Given the description of an element on the screen output the (x, y) to click on. 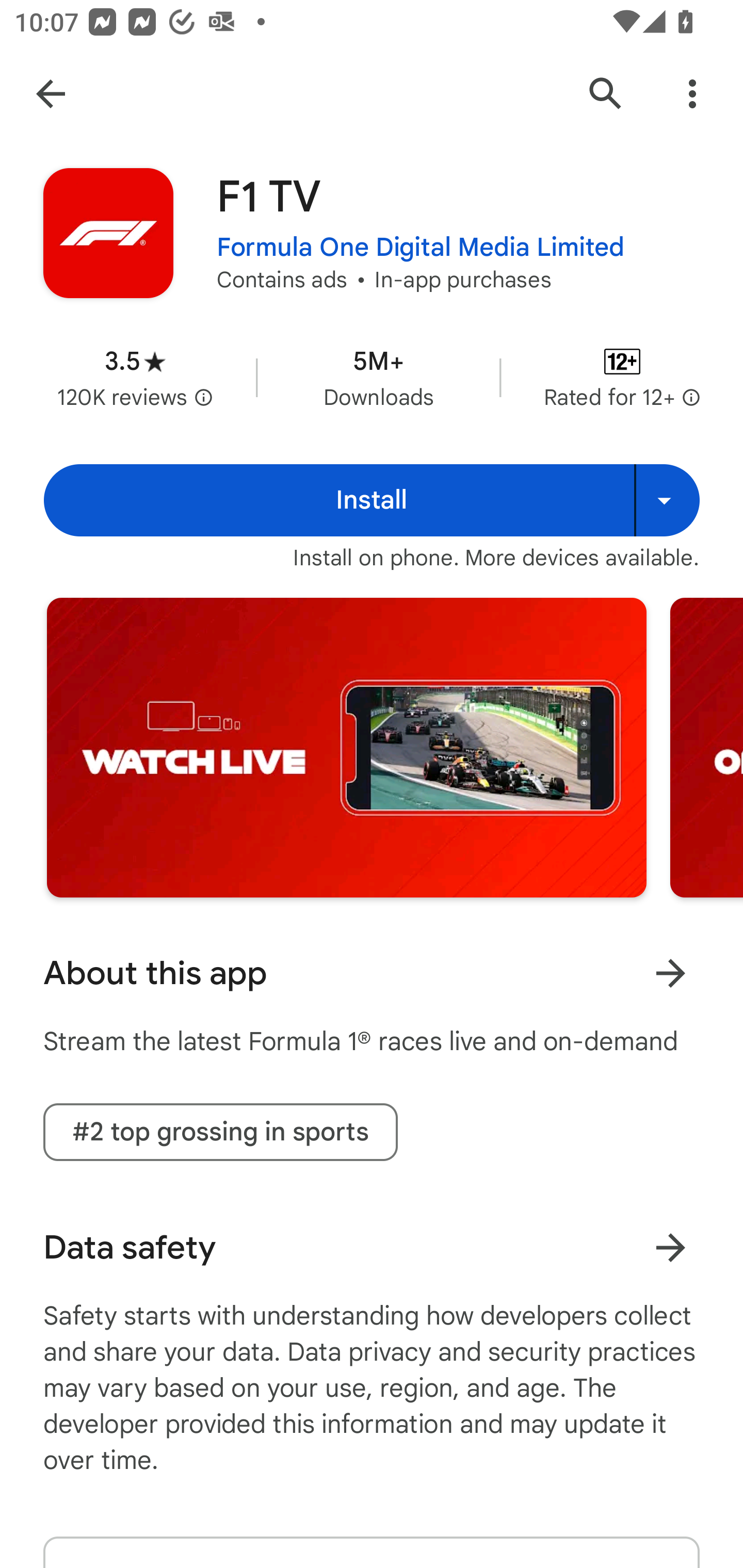
Navigate up (50, 93)
Search Google Play (605, 93)
More Options (692, 93)
Formula One Digital Media Limited (420, 247)
Average rating 3.5 stars in 120 thousand reviews (135, 377)
Content rating Rated for 12+ (622, 377)
Install Install Install on more devices (371, 500)
Install on more devices (667, 500)
Screenshot "1" of "5" (346, 746)
About this app Learn more About this app (371, 972)
Learn more About this app (670, 972)
#2 top grossing in sports tag (220, 1132)
Data safety Learn more about data safety (371, 1247)
Learn more about data safety (670, 1247)
